Given the description of an element on the screen output the (x, y) to click on. 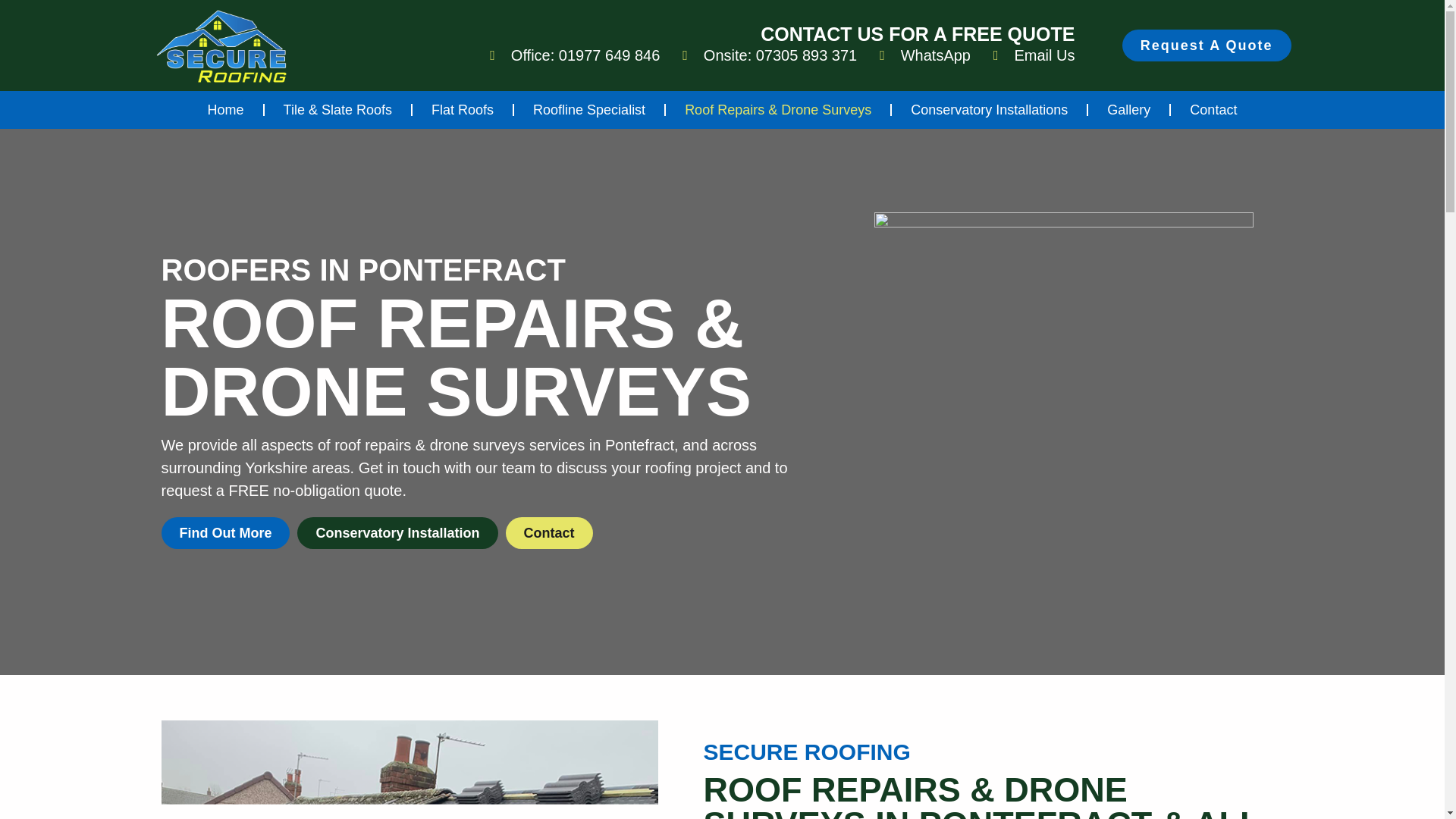
Office: 01977 649 846 (574, 55)
Home (226, 109)
WhatsApp (925, 55)
Onsite: 07305 893 371 (769, 55)
Request A Quote (1206, 45)
Gallery (1128, 109)
Contact (1212, 109)
Roofline Specialist (588, 109)
Flat Roofs (462, 109)
Conservatory Installations (988, 109)
Email Us (1033, 55)
